Given the description of an element on the screen output the (x, y) to click on. 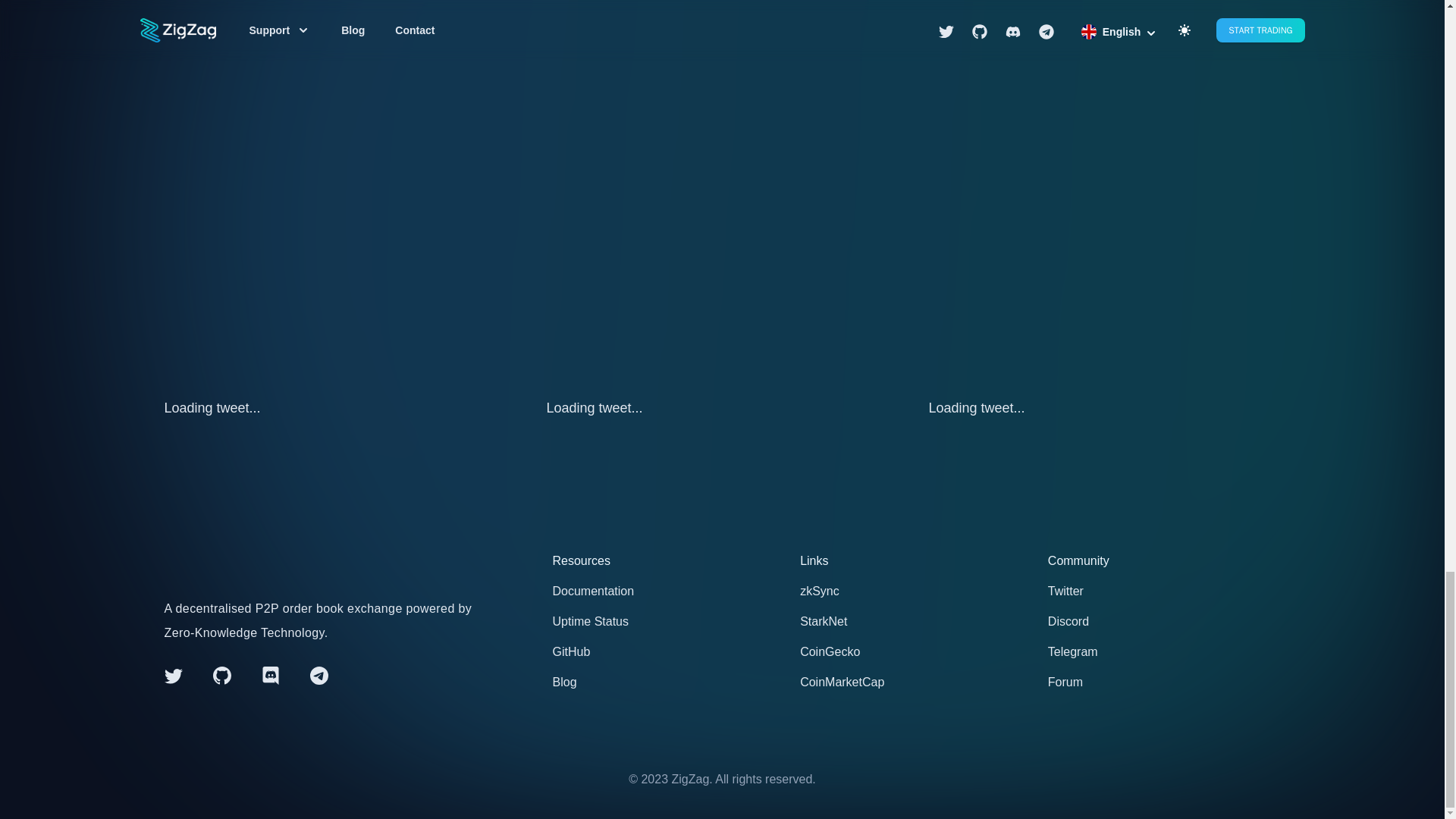
StarkNet (915, 621)
CoinMarketCap (915, 682)
GitHub (667, 651)
Discord (1164, 621)
Uptime Status (667, 621)
CoinGecko (915, 651)
Twitter (1164, 591)
Blog (667, 682)
Telegram (1164, 651)
Documentation (667, 591)
zkSync (915, 591)
